Given the description of an element on the screen output the (x, y) to click on. 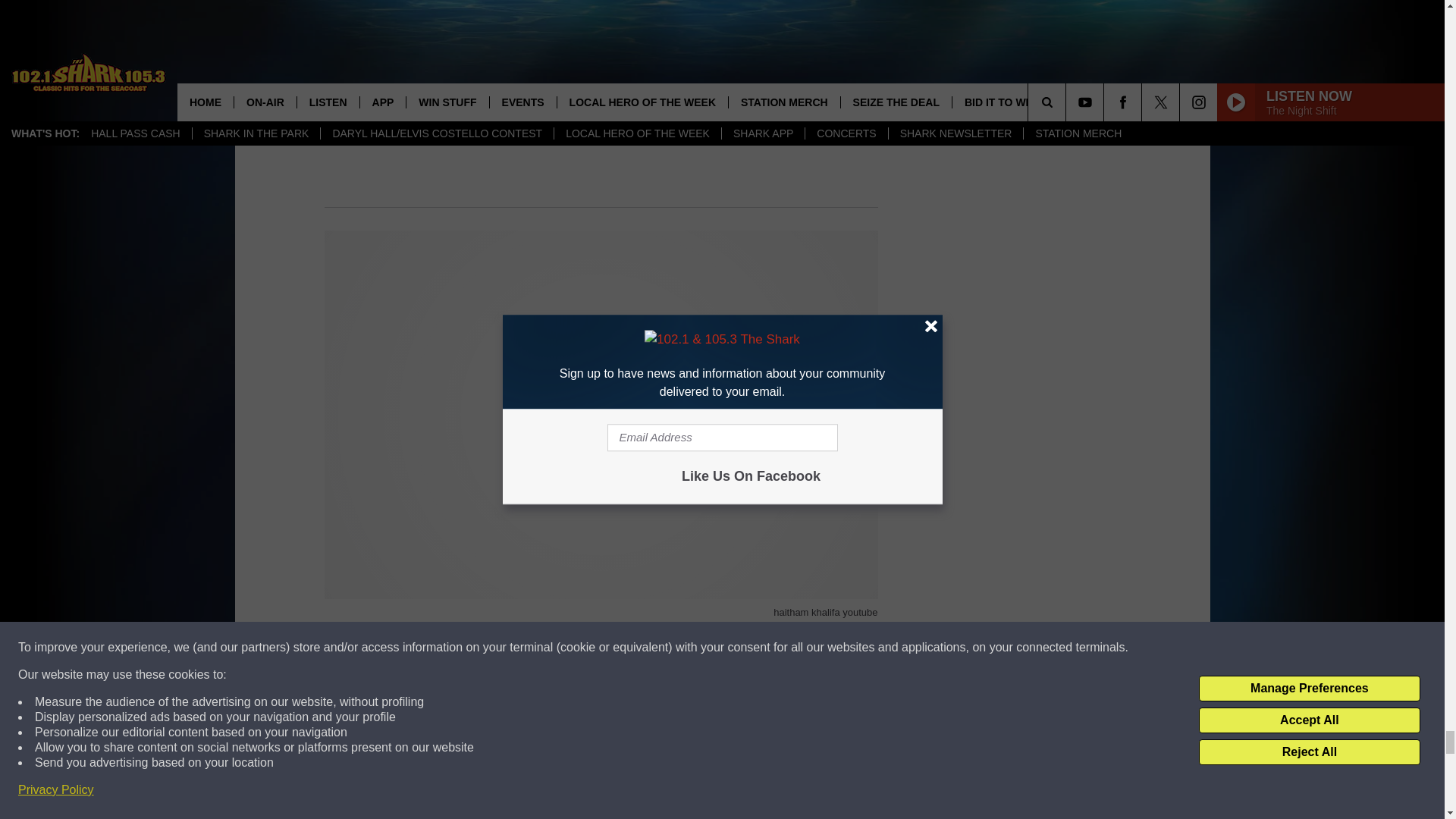
YouTube video player (600, 765)
